Given the description of an element on the screen output the (x, y) to click on. 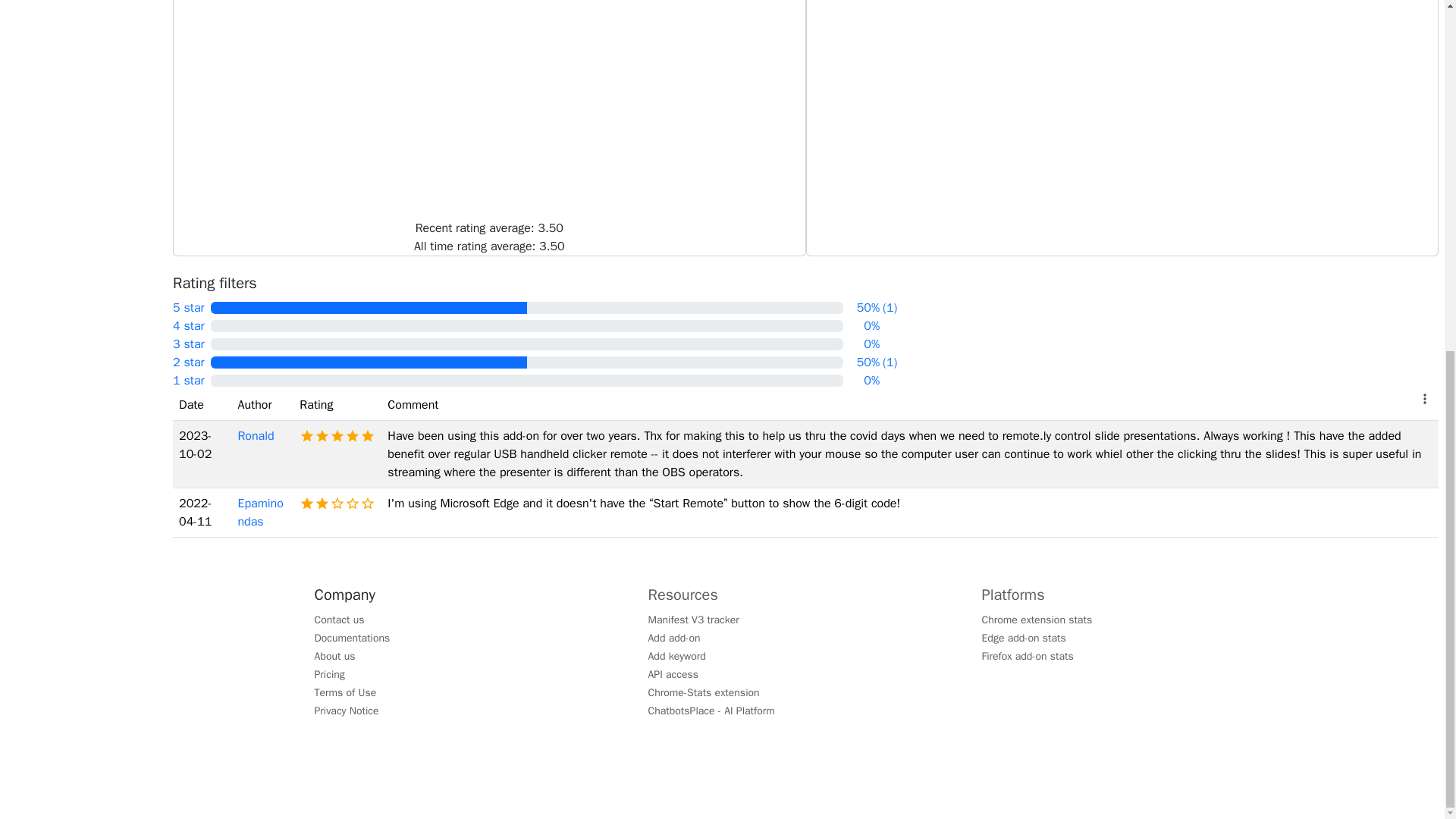
Pricing (329, 673)
Contact us (339, 619)
Documentations (352, 637)
Epaminondas (259, 512)
Terms of Use (345, 692)
Chrome-Stats API Access (672, 673)
Ronald (255, 435)
About us (334, 655)
